Given the description of an element on the screen output the (x, y) to click on. 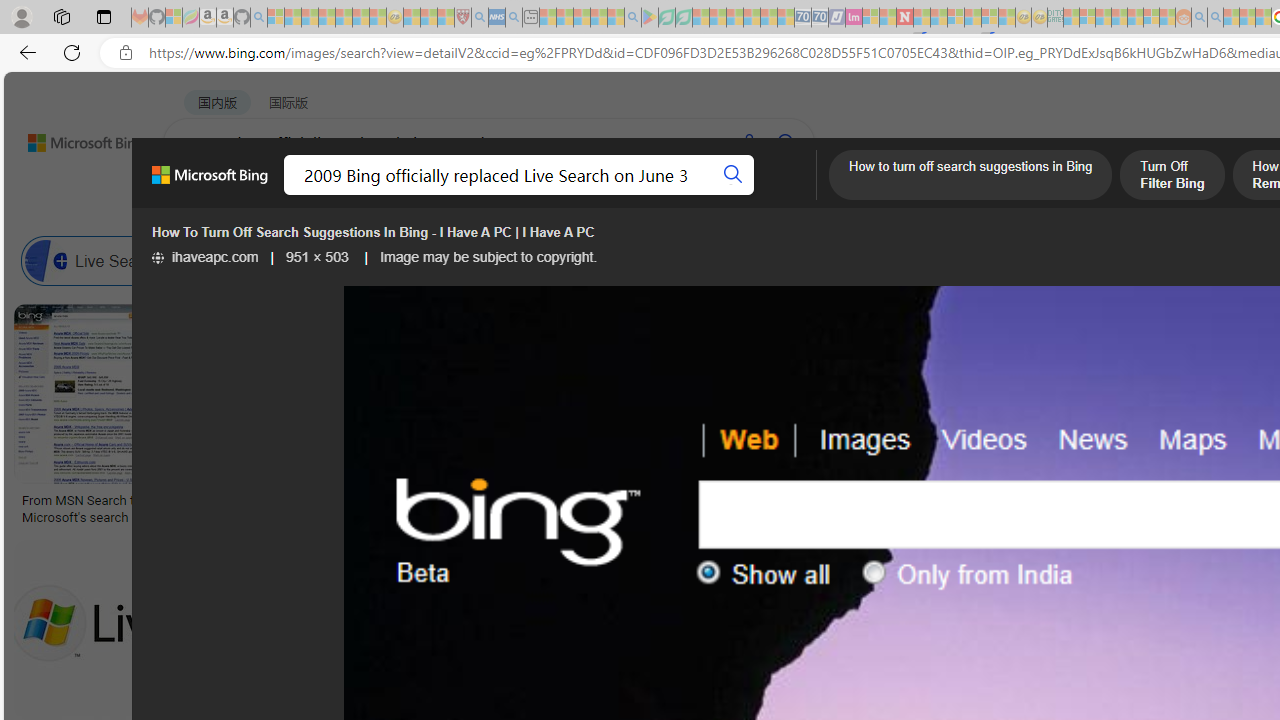
WEB (201, 195)
Bing Logo and symbol, meaning, history, PNG, brand (418, 508)
MY BING (276, 195)
Bing Logo and symbol, meaning, history, PNG, brandSave (422, 417)
